Given the description of an element on the screen output the (x, y) to click on. 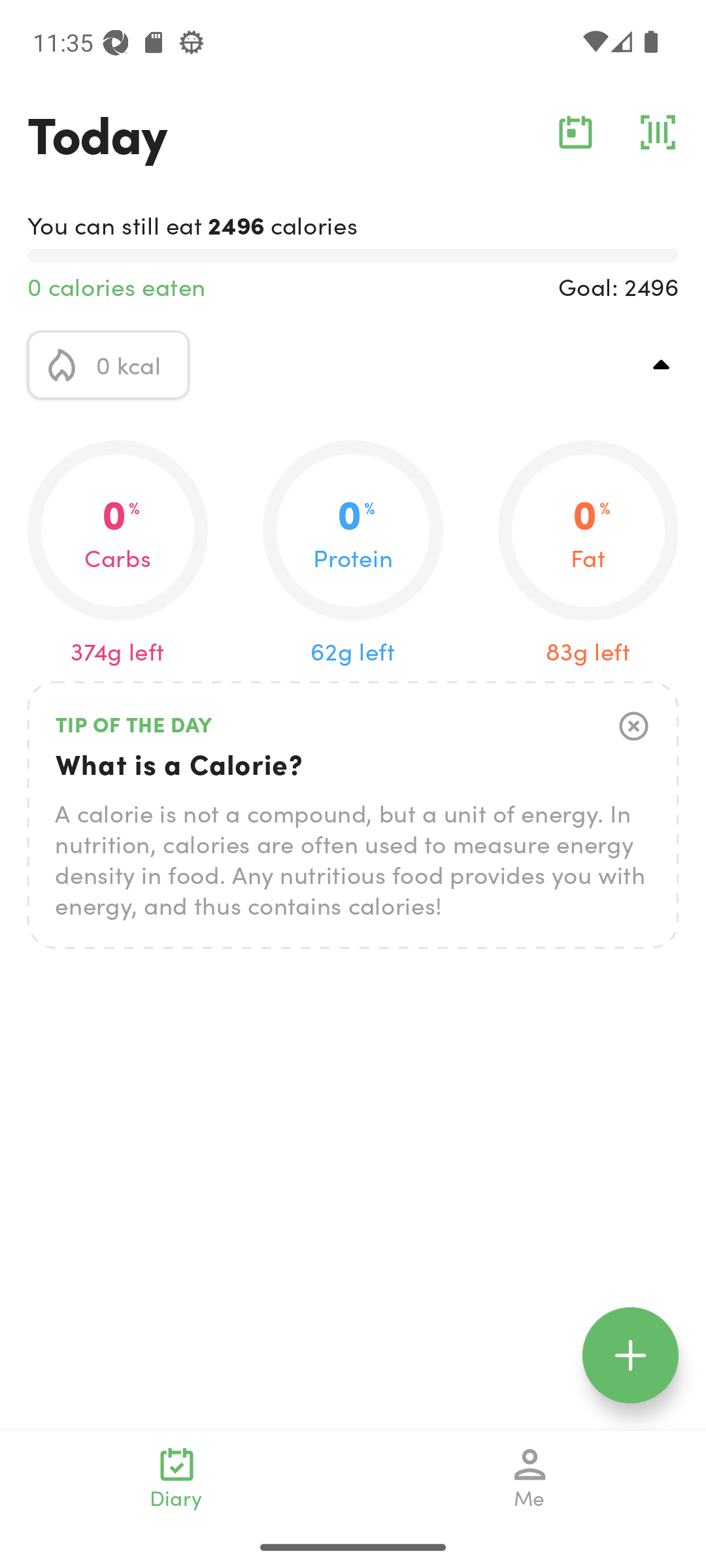
calendar_action (575, 132)
barcode_action (658, 132)
calorie_icon 0 kcal (108, 365)
top_right_action (661, 365)
0.0 0 % Carbs 374g left (117, 553)
0.0 0 % Protein 62g left (352, 553)
0.0 0 % Fat 83g left (588, 553)
top_right_action (633, 726)
floating_action_icon (630, 1355)
Me navigation_icon (529, 1478)
